Given the description of an element on the screen output the (x, y) to click on. 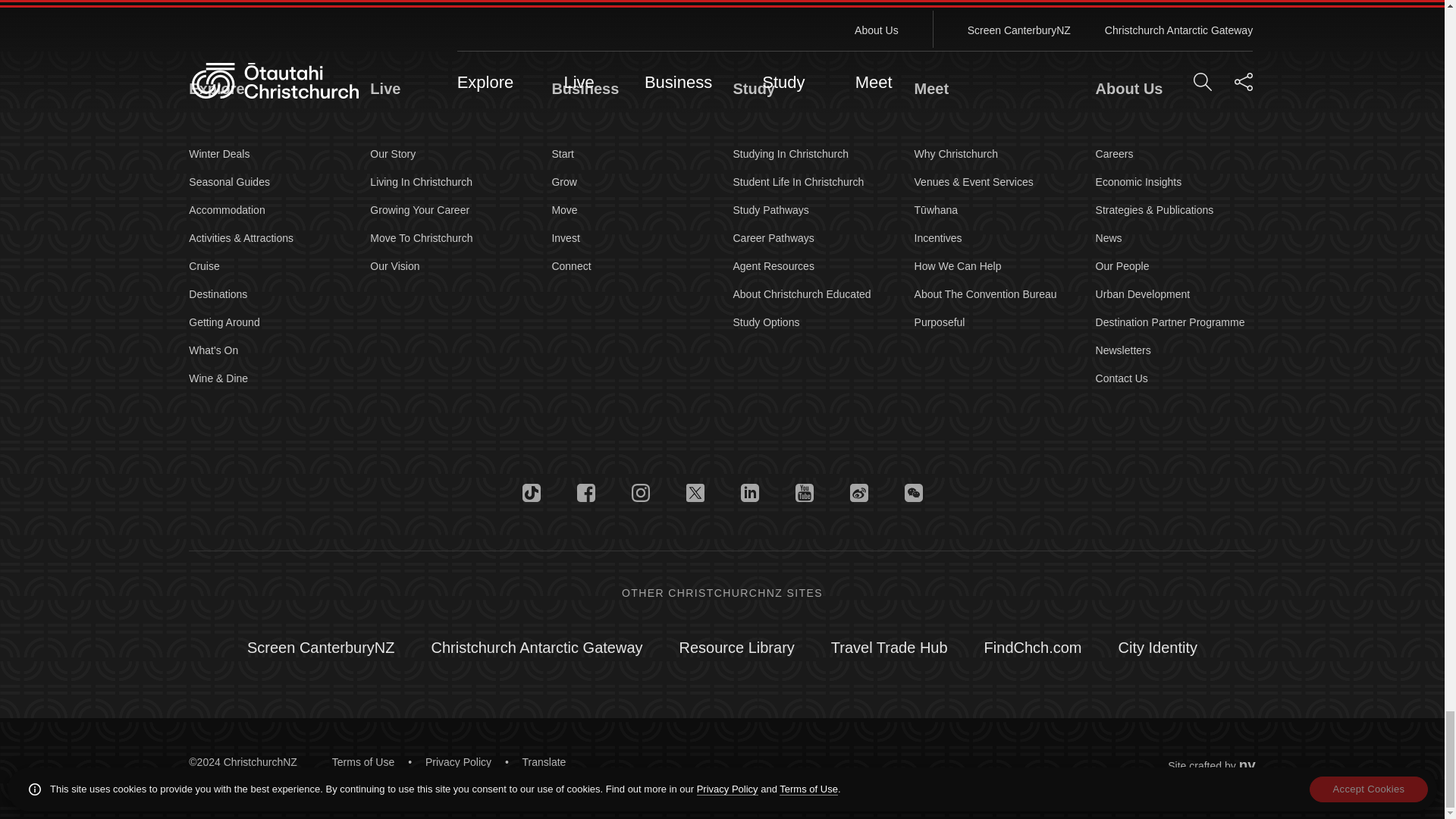
Visit ChristchurchNZ on Weibo (857, 493)
Follow ChristchurchNZ on X (694, 493)
Visit ChristchurchNZ on YouTube (803, 493)
Visit ChristchurchNZ on WeChat (912, 493)
Visit ChristchurchNZ on Facebook (585, 493)
Website by NV Interactive (1247, 764)
Visit ChristchurchNZ on TikTok (530, 493)
Follow ChristchurchNZ on Instagram (639, 493)
Visit ChristchurchNZ on Linkedin (748, 493)
